Given the description of an element on the screen output the (x, y) to click on. 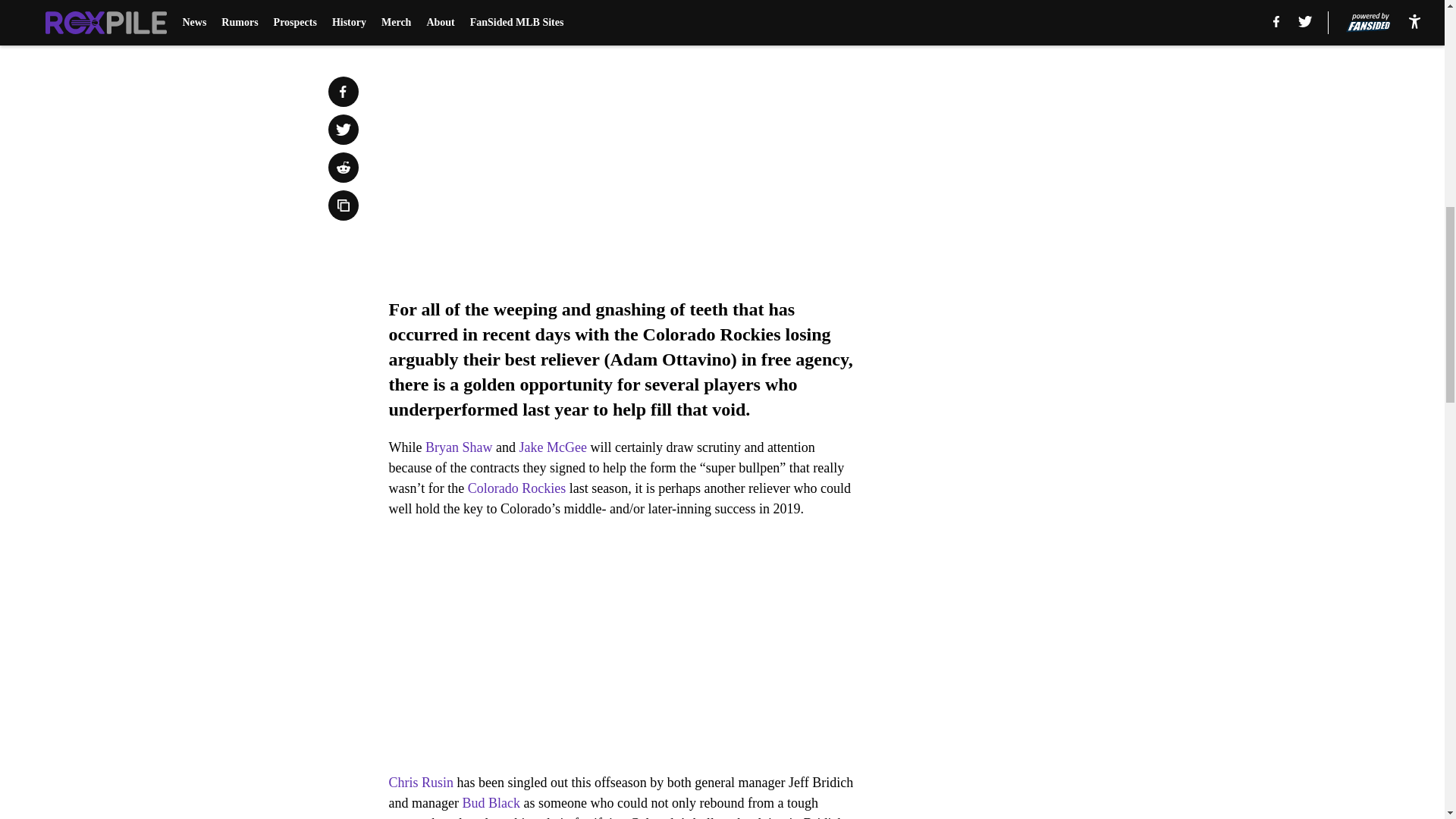
3rd party ad content (1047, 113)
Chris Rusin (420, 782)
3rd party ad content (1047, 332)
Jake McGee (552, 447)
Bryan Shaw (459, 447)
Colorado Rockies (516, 488)
Bud Black (490, 802)
